Given the description of an element on the screen output the (x, y) to click on. 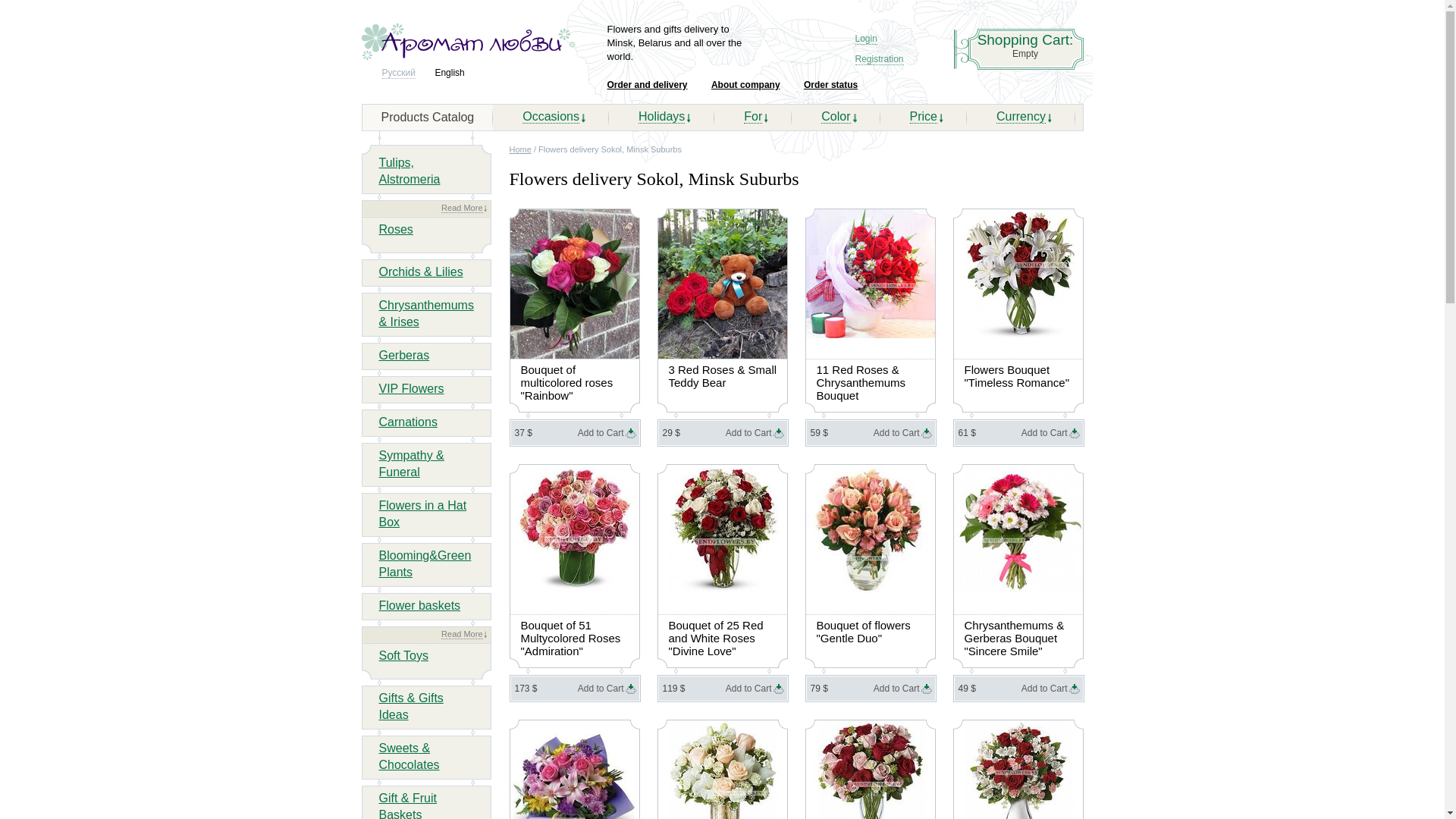
Add to Cart Element type: text (600, 687)
Add to Cart
79 $ Element type: text (870, 688)
Add to Cart Element type: text (896, 687)
Login Element type: text (866, 36)
Carnations Element type: text (408, 421)
Add to Cart
61 $ Element type: text (1017, 432)
Blooming&Green Plants Element type: text (425, 563)
Order status Element type: text (830, 84)
Bouquet of 25 Red and White Roses "Divine Love" Element type: text (721, 635)
Flowers in a Hat Box Element type: text (423, 513)
Occasions Element type: text (550, 116)
Holidays Element type: text (661, 116)
Add to Cart Element type: text (1044, 432)
Read More Element type: text (461, 634)
Home Element type: text (520, 148)
Registration Element type: text (879, 57)
Flowers Bouquet "Timeless Romance" Element type: text (1017, 373)
Gerberas Element type: text (404, 354)
About company Element type: text (745, 84)
Bouquet of flowers "Gentle Duo" Element type: text (870, 629)
Currency Element type: text (1020, 116)
Add to Cart Element type: text (748, 687)
Add to Cart Element type: text (896, 432)
Color Element type: text (835, 116)
3 Red Roses & Small Teddy Bear Element type: text (721, 373)
Order and delivery Element type: text (646, 84)
Add to Cart
119 $ Element type: text (721, 688)
VIP Flowers Element type: text (411, 388)
Shopping Cart: Element type: text (1025, 39)
Roses Element type: text (396, 228)
Read More Element type: text (461, 208)
Gifts & Gifts Ideas Element type: text (411, 706)
Add to Cart Element type: text (748, 432)
Tulips, Alstromeria Element type: text (409, 170)
Bouquet of 51 Multycolored Roses "Admiration" Element type: text (574, 635)
Add to Cart
37 $ Element type: text (574, 432)
11 Red Roses & Chrysanthemums Bouquet Element type: text (870, 379)
Add to Cart
29 $ Element type: text (721, 432)
Price Element type: text (923, 116)
Bouquet of multicolored roses "Rainbow" Element type: text (574, 379)
Flower baskets Element type: text (420, 605)
Products Catalog Element type: text (426, 116)
Soft Toys Element type: text (404, 655)
Add to Cart
173 $ Element type: text (574, 688)
Sweets & Chocolates Element type: text (409, 756)
Chrysanthemums & Gerberas Bouquet "Sincere Smile" Element type: text (1017, 635)
Add to Cart Element type: text (600, 432)
Add to Cart Element type: text (1044, 687)
Orchids & Lilies Element type: text (421, 271)
Add to Cart
59 $ Element type: text (870, 432)
Sympathy & Funeral Element type: text (411, 463)
Chrysanthemums & Irises Element type: text (426, 313)
Add to Cart
49 $ Element type: text (1017, 688)
For Element type: text (752, 116)
